Given the description of an element on the screen output the (x, y) to click on. 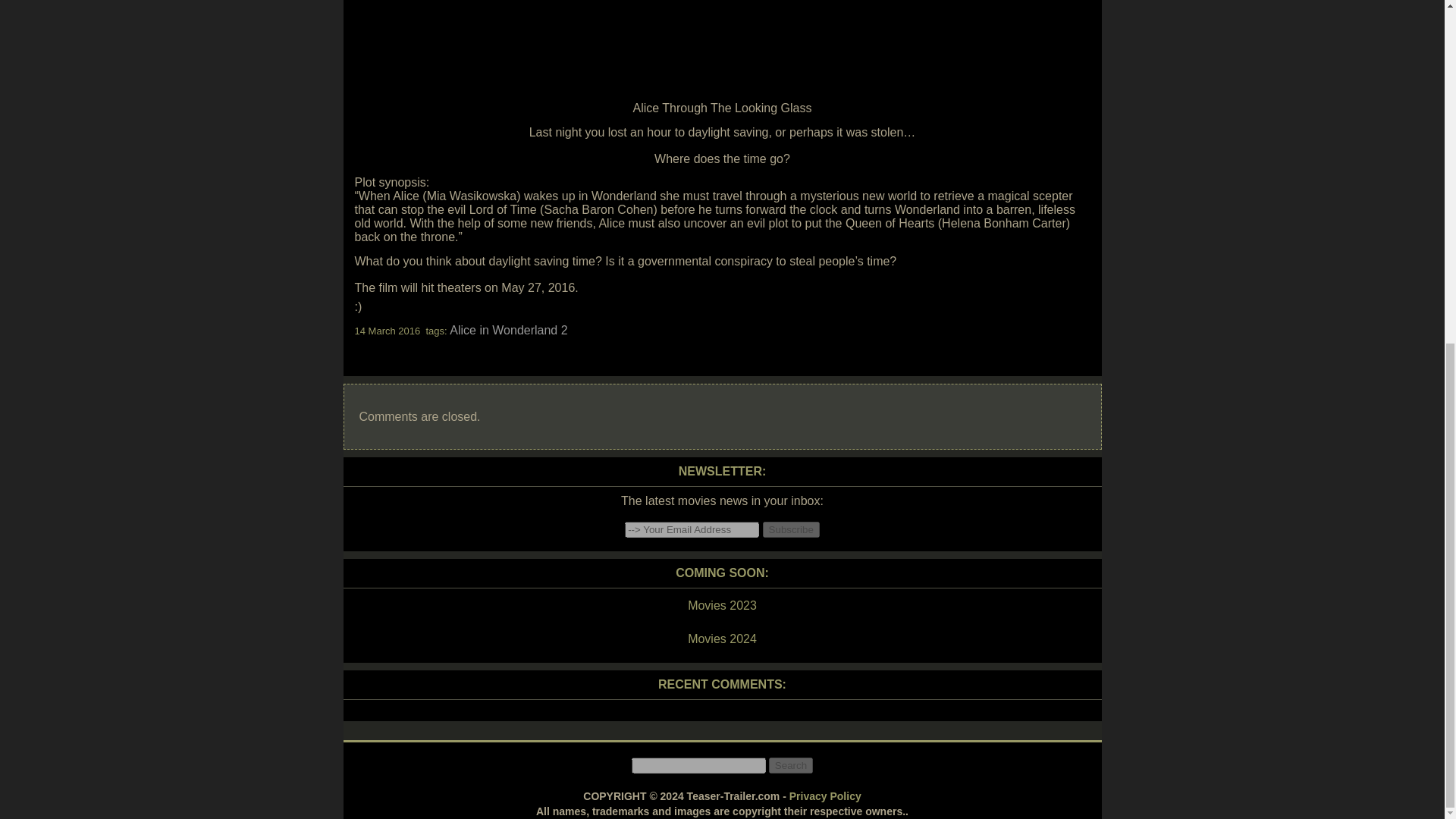
Movies 2024 (721, 639)
Alice in Wonderland 2 (508, 329)
Search (790, 765)
Movies 2023 (721, 605)
Search (790, 765)
Subscribe (790, 529)
Privacy Policy (825, 796)
Subscribe (790, 529)
